Given the description of an element on the screen output the (x, y) to click on. 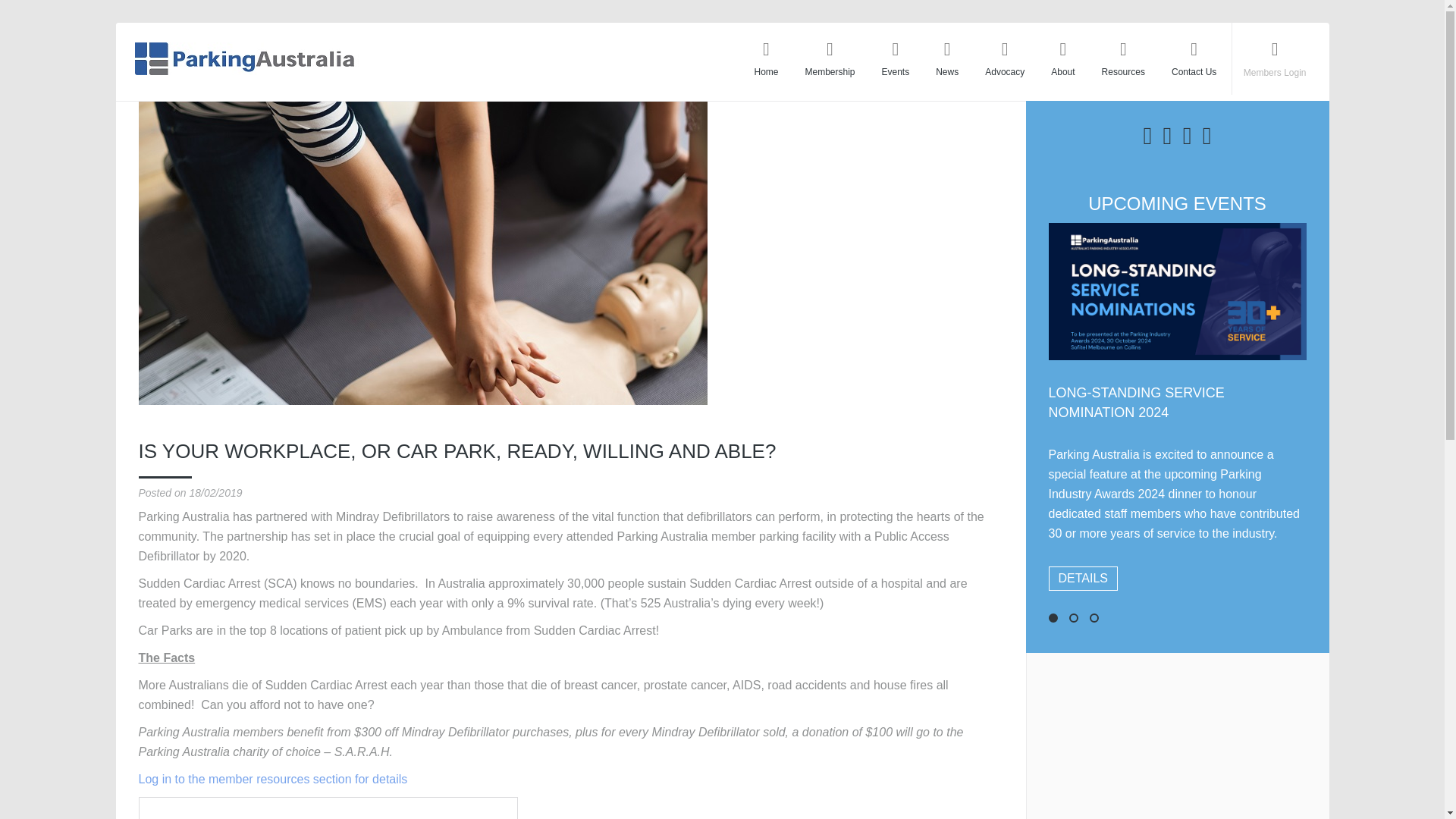
Members Login (1274, 72)
Membership (829, 58)
Log in to the member resources section for details (272, 779)
News (947, 58)
Contact Us (1193, 58)
Members Login (1274, 72)
Resources (1123, 58)
Advocacy (1005, 58)
Members Login (1274, 72)
Events (896, 58)
Home (765, 58)
About (1062, 58)
